Given the description of an element on the screen output the (x, y) to click on. 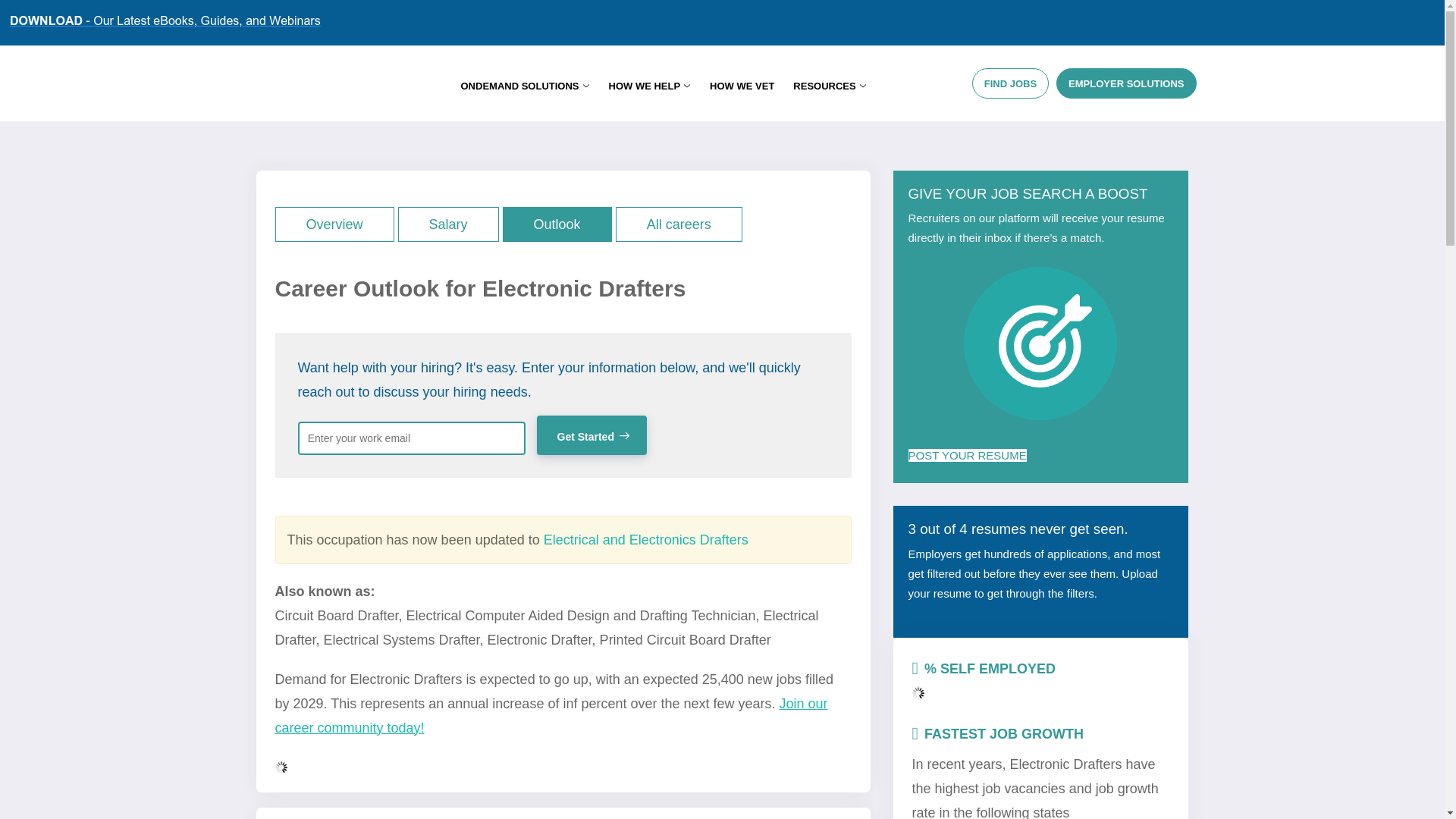
Outlook (556, 219)
Salary (448, 219)
FIND JOBS (1010, 82)
EMPLOYER SOLUTIONS (1126, 82)
Electrical and Electronics Drafters (645, 539)
HOW WE VET (742, 85)
All careers (678, 219)
Get Started (591, 435)
ONDEMAND SOLUTIONS (525, 85)
POST YOUR RESUME (967, 454)
RESOURCES (829, 85)
HOW WE HELP (649, 85)
Overview (334, 219)
